Given the description of an element on the screen output the (x, y) to click on. 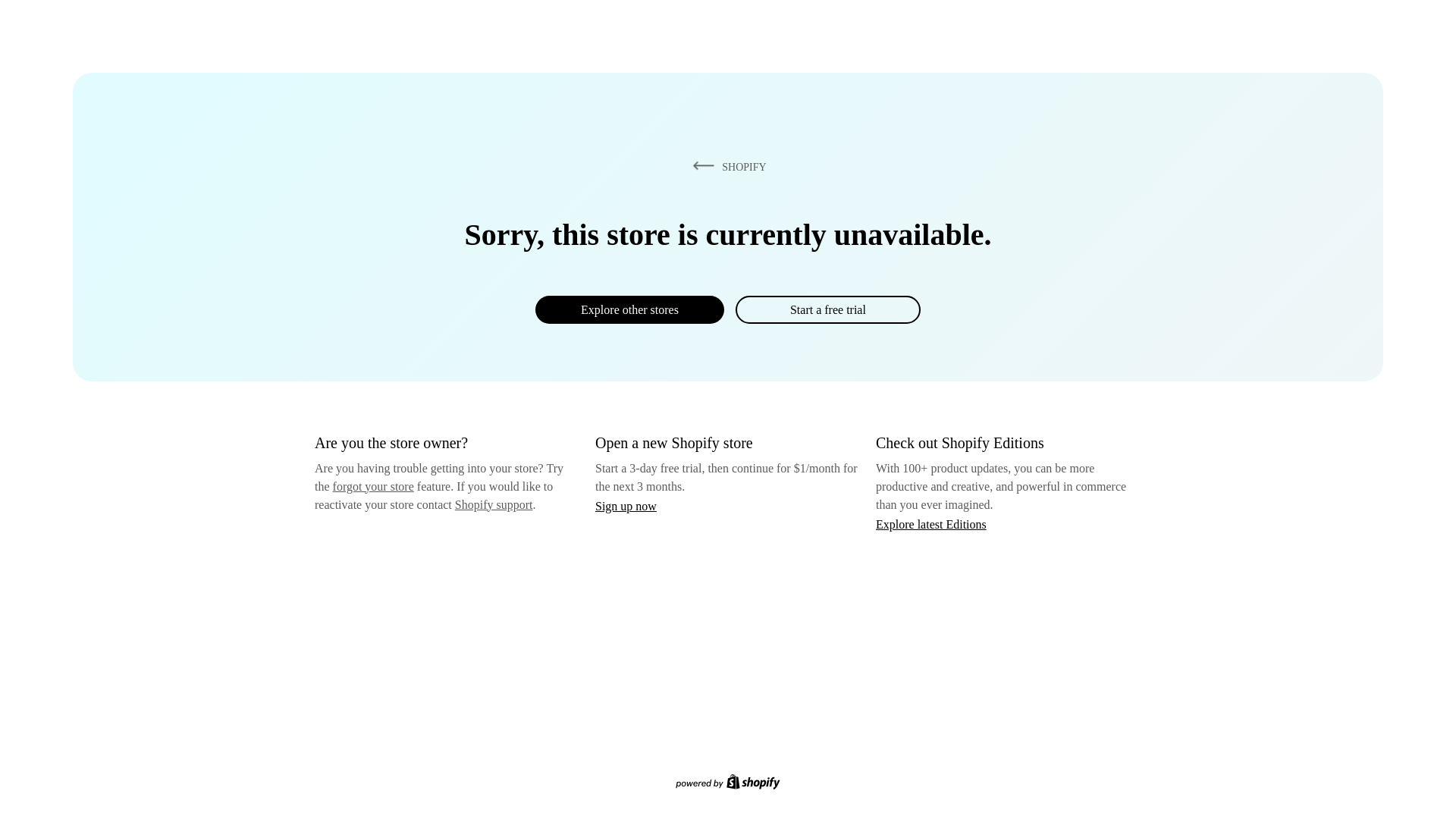
SHOPIFY (726, 166)
forgot your store (373, 486)
Start a free trial (827, 309)
Explore latest Editions (931, 523)
Explore other stores (629, 309)
Shopify support (493, 504)
Sign up now (625, 505)
